Given the description of an element on the screen output the (x, y) to click on. 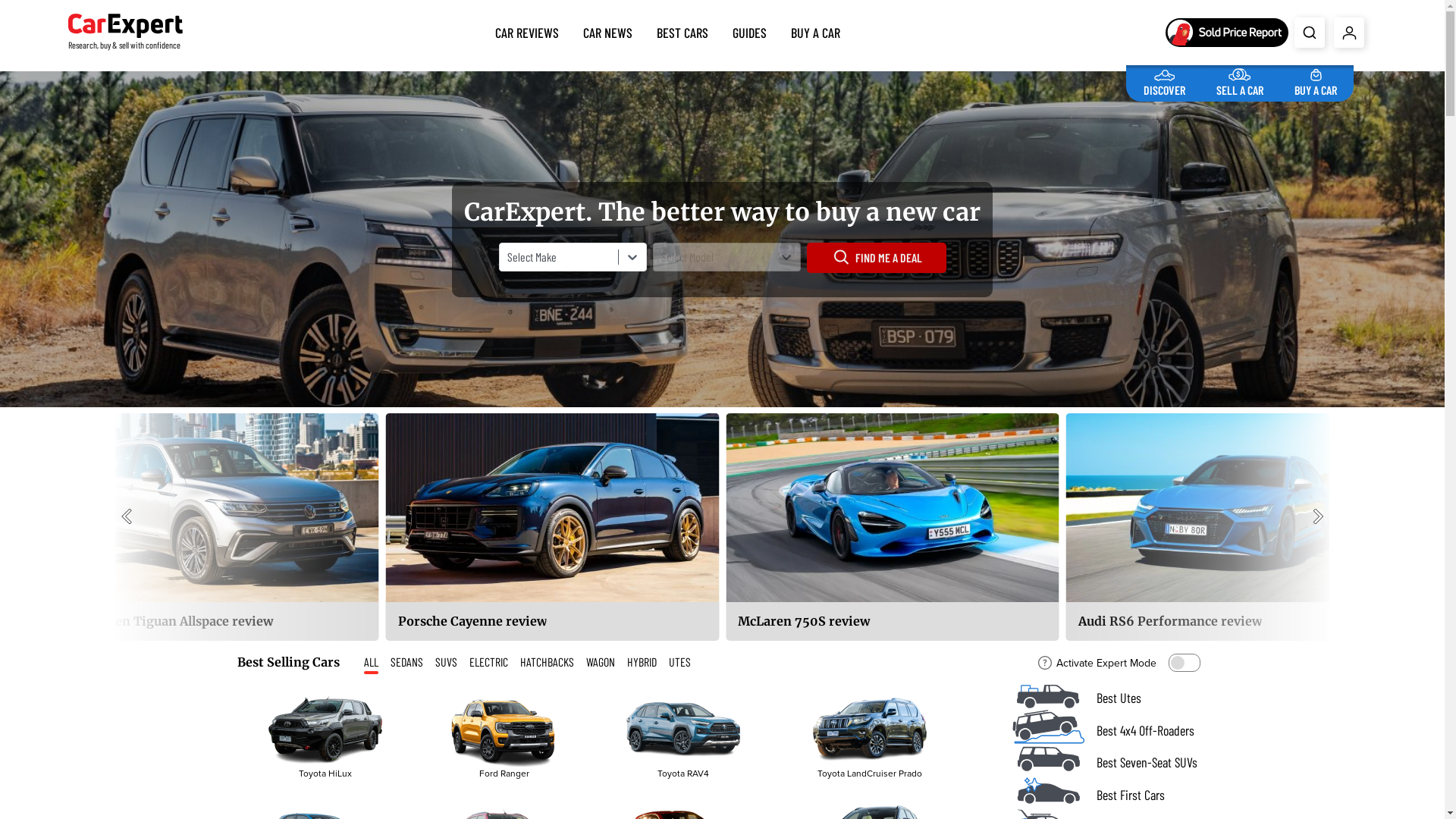
BUY A CAR Element type: text (815, 29)
BUY A CAR Element type: text (1315, 80)
Toyota RAV4 Element type: hover (683, 729)
Toyota RAV4 Element type: text (682, 736)
CAR REVIEWS Element type: text (526, 29)
BMW iX1 review Element type: text (485, 526)
Best Utes Element type: text (1108, 697)
GUIDES Element type: text (749, 29)
Toyota HiLux Element type: hover (325, 728)
BEST CARS Element type: text (682, 29)
Best First Cars Element type: text (1108, 794)
Toyota HiLux Element type: text (324, 736)
Toyota LandCruiser Prado Element type: hover (869, 729)
Best 4x4 Off-Roaders Element type: text (1108, 730)
SELL A CAR Element type: text (1239, 80)
on Element type: text (1183, 662)
Toyota LandCruiser Prado Element type: text (868, 736)
Hyundai Ioniq 5 N review Element type: text (273, 526)
Ford Ranger Element type: hover (504, 729)
CAR NEWS Element type: text (607, 29)
Submit Element type: hover (1309, 32)
Volkswagen Tiguan Allspace review Element type: text (1006, 526)
Ford Ranger Element type: text (503, 736)
GWM Haval H6 Ultra Hybrid review Element type: text (212, 526)
Best Seven-Seat SUVs Element type: text (1108, 762)
DISCOVER Element type: text (1164, 80)
Mazda CX-3 review Element type: text (732, 526)
